Given the description of an element on the screen output the (x, y) to click on. 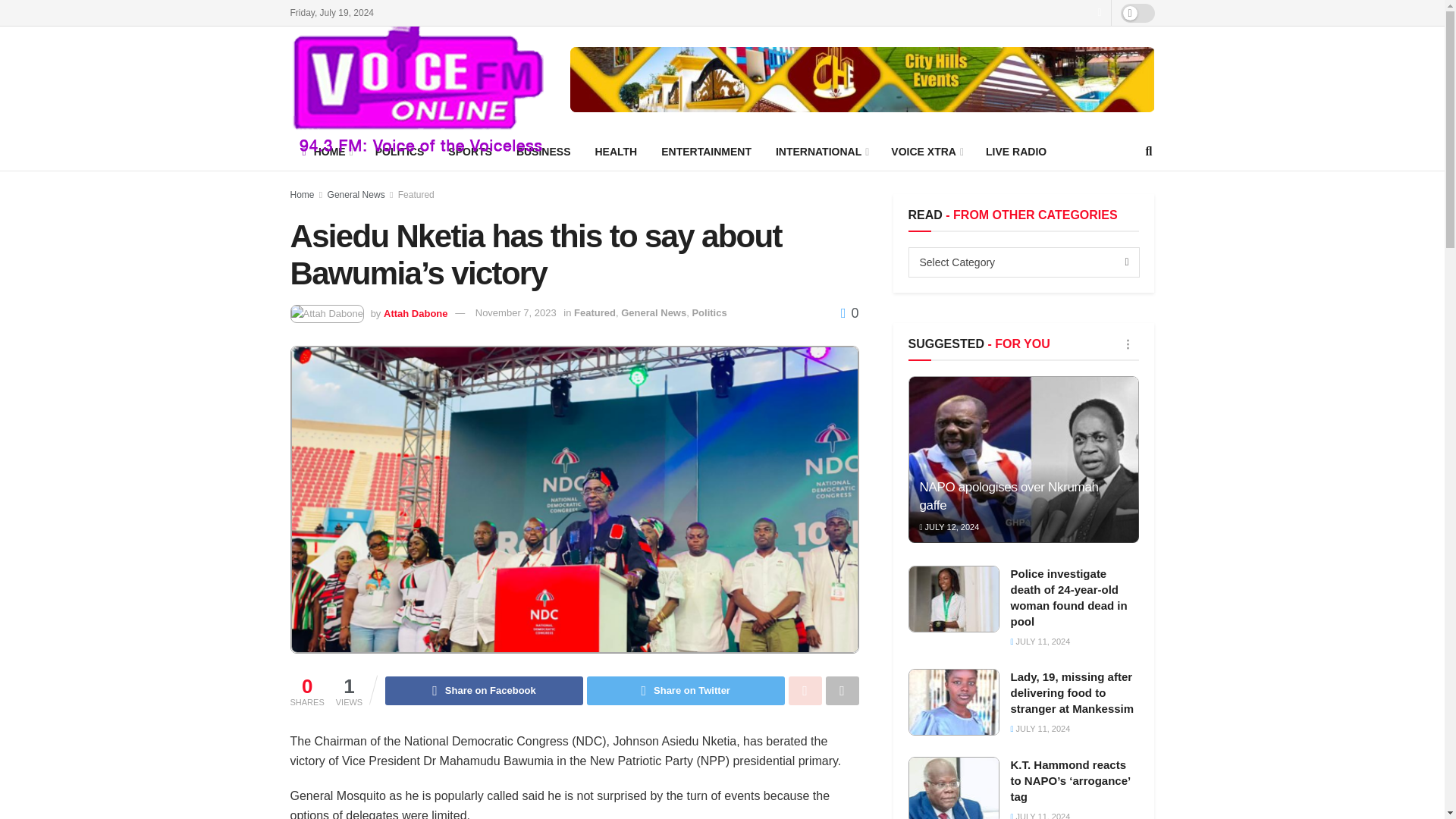
POLITICS (399, 151)
SPORTS (469, 151)
ENTERTAINMENT (705, 151)
BUSINESS (543, 151)
HEALTH (615, 151)
INTERNATIONAL (820, 151)
HOME (325, 151)
